Given the description of an element on the screen output the (x, y) to click on. 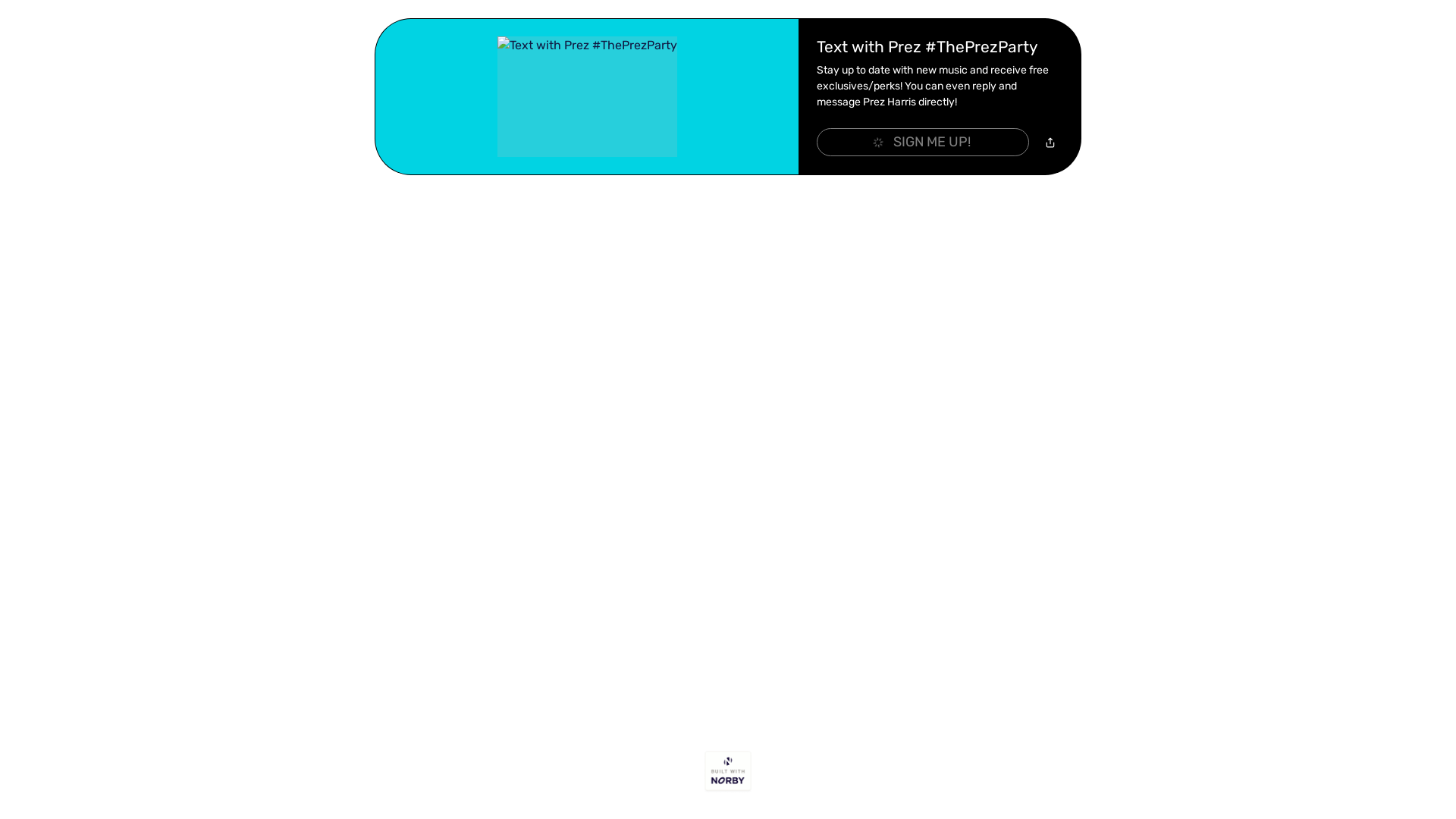
SIGN ME UP! Element type: text (922, 142)
